Given the description of an element on the screen output the (x, y) to click on. 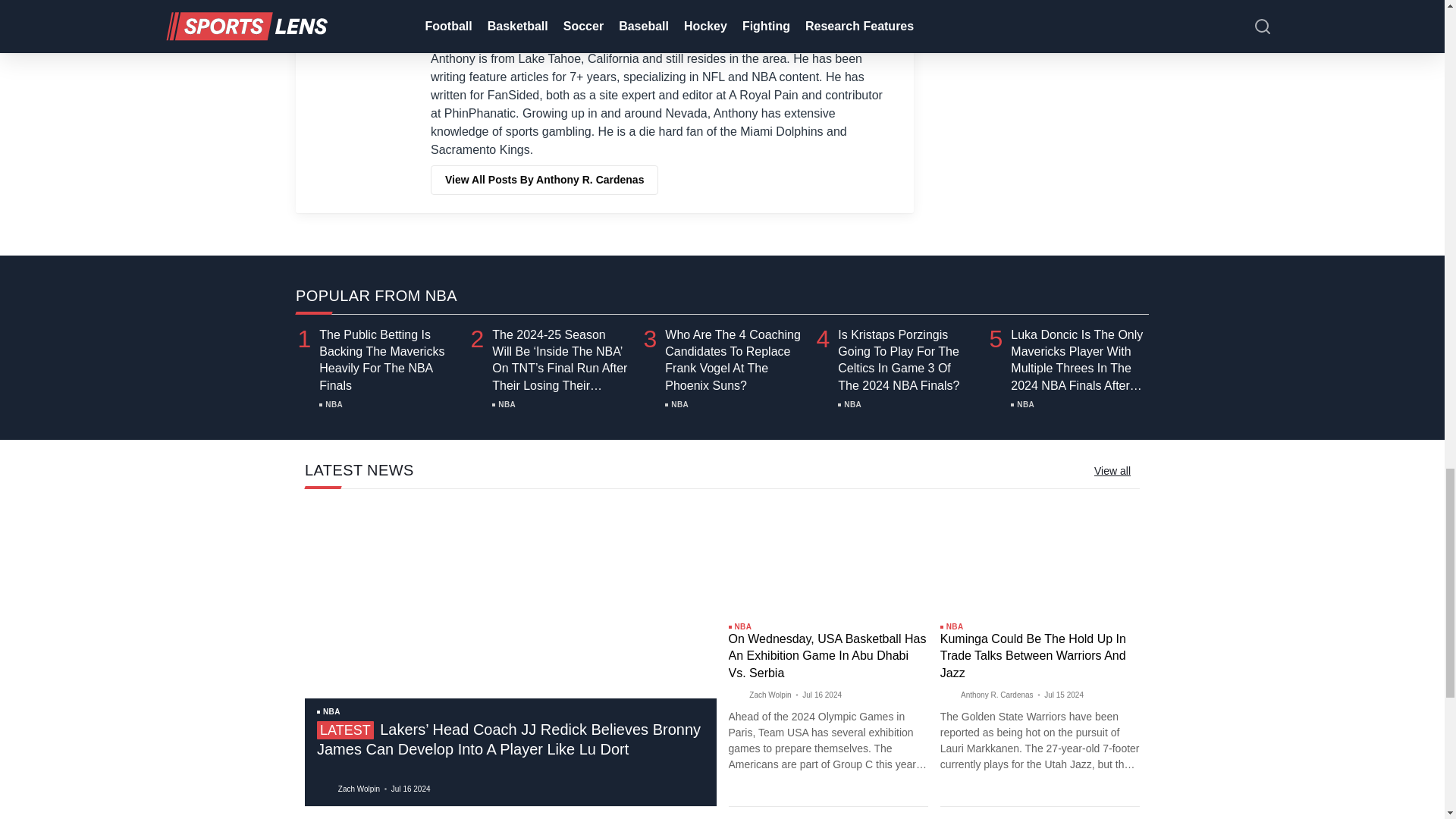
View All Posts By Anthony R. Cardenas (544, 179)
